Given the description of an element on the screen output the (x, y) to click on. 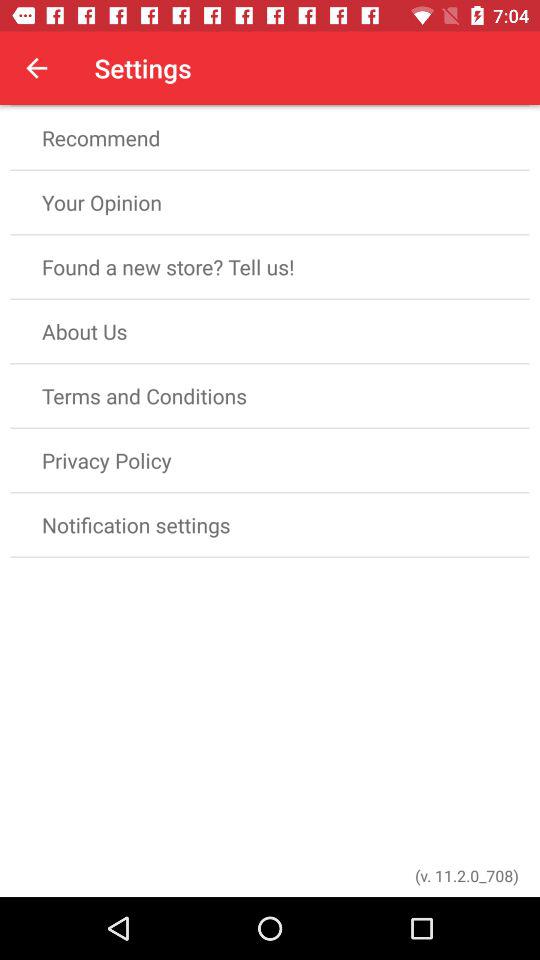
jump to the your opinion (269, 202)
